Given the description of an element on the screen output the (x, y) to click on. 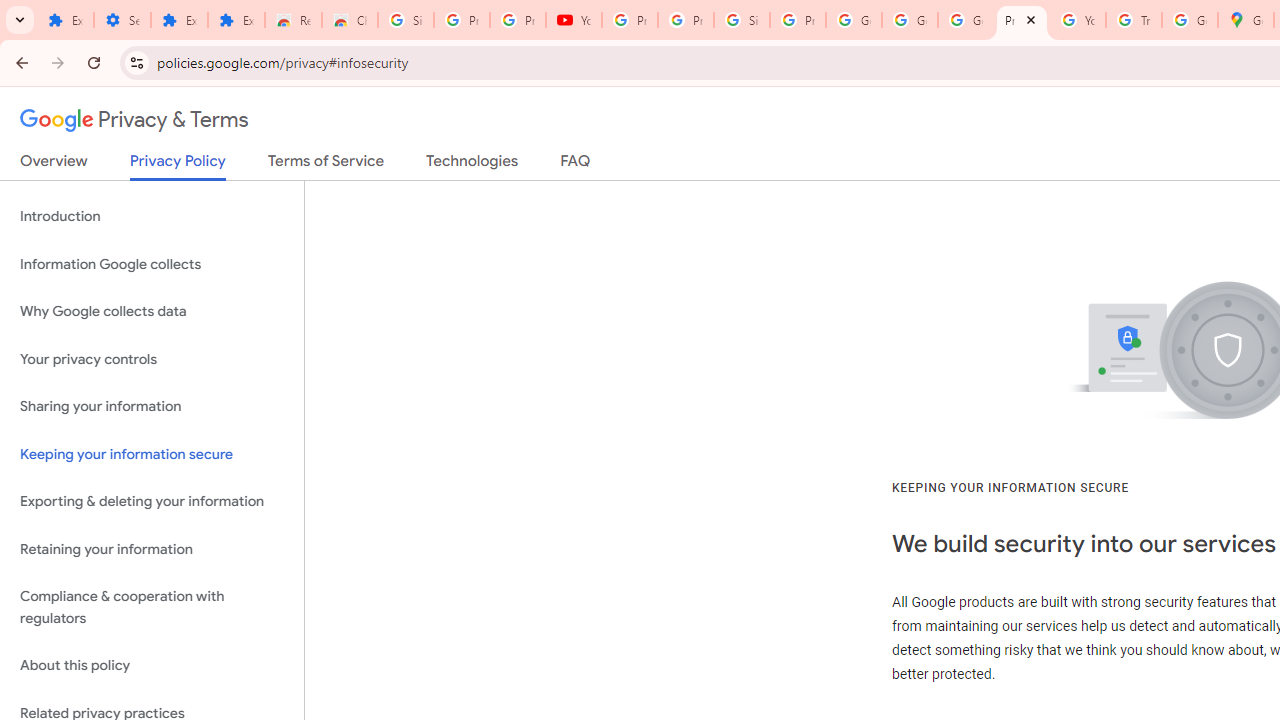
Reviews: Helix Fruit Jump Arcade Game (293, 20)
Terms of Service (326, 165)
Overview (54, 165)
Your privacy controls (152, 358)
Information Google collects (152, 263)
Compliance & cooperation with regulators (152, 607)
About this policy (152, 666)
